Given the description of an element on the screen output the (x, y) to click on. 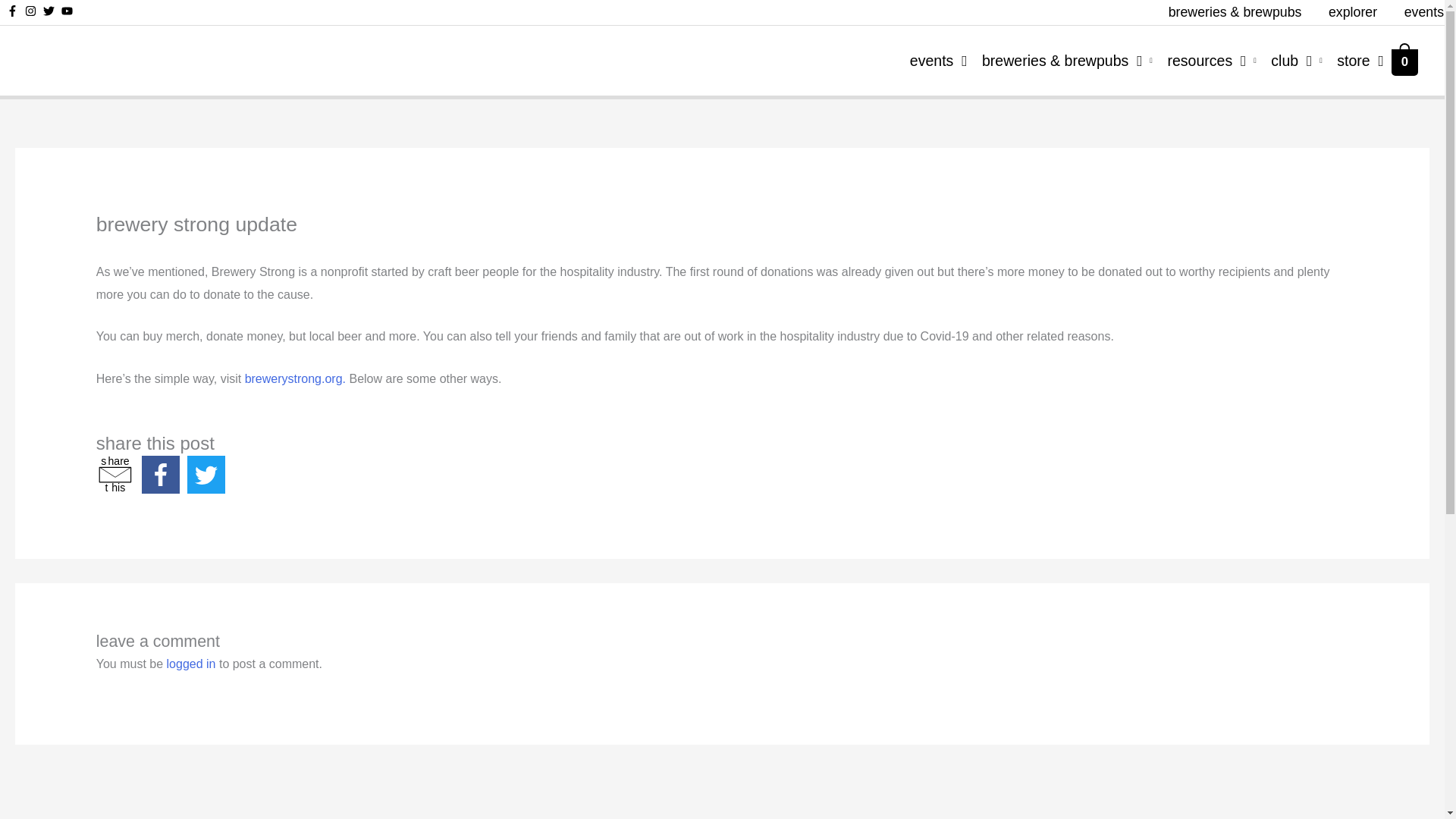
events (1417, 11)
resources   (1204, 60)
events   (930, 60)
NJCB Beer Resources (1204, 60)
NJCB Events and News (930, 60)
explorer (114, 474)
club   (1352, 11)
NJCB Membership Club (1289, 60)
New Jersey Breweries and Brewpubs (1289, 60)
